Given the description of an element on the screen output the (x, y) to click on. 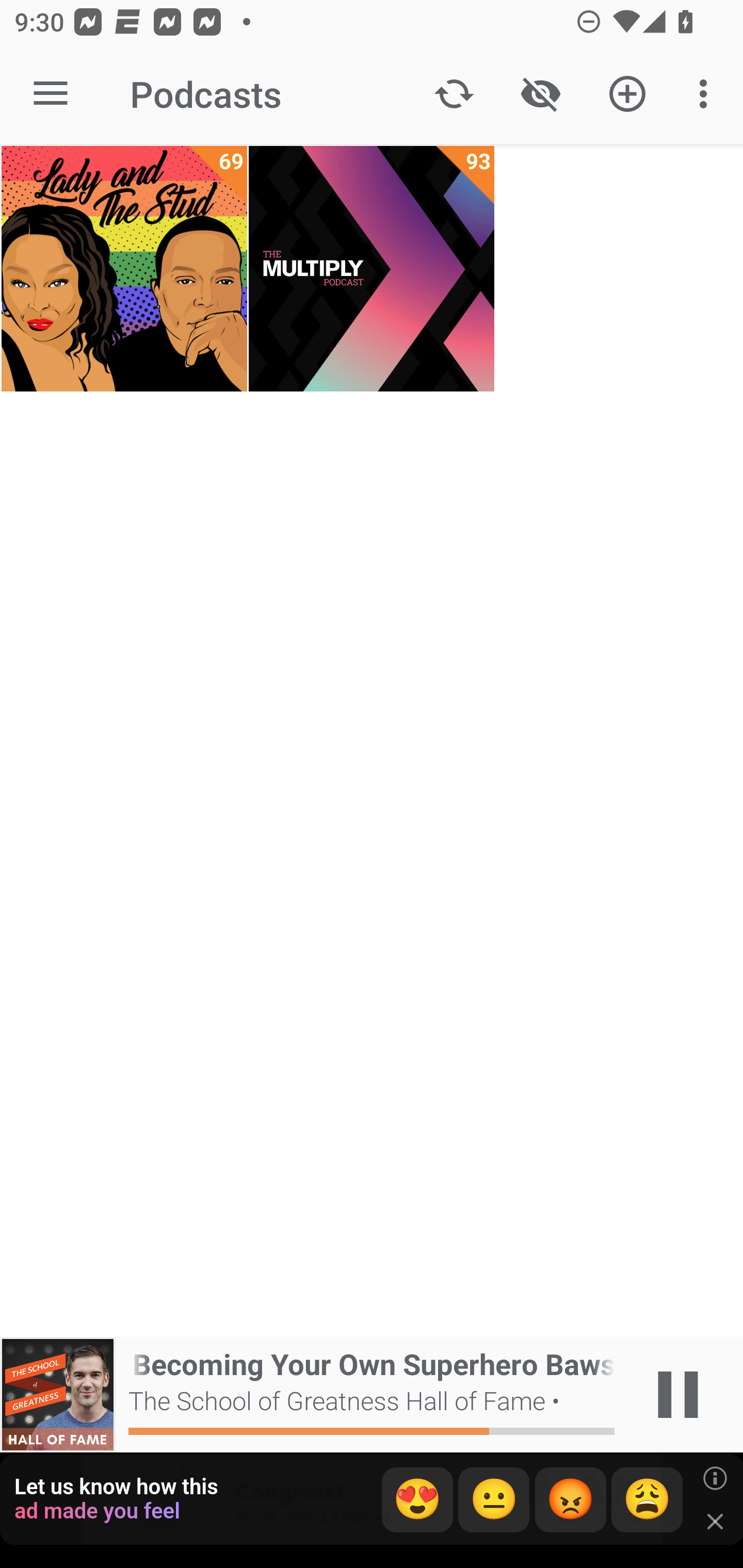
Open navigation sidebar (50, 93)
Update (453, 93)
Show / Hide played content (540, 93)
Add new Podcast (626, 93)
More options (706, 93)
Lady and The Stud 69 (124, 268)
The Multiply Podcast 93 (371, 268)
Play / Pause (677, 1394)
app-monetization (371, 1500)
😍 (416, 1499)
😐 (493, 1499)
😡 (570, 1499)
😩 (647, 1499)
